Given the description of an element on the screen output the (x, y) to click on. 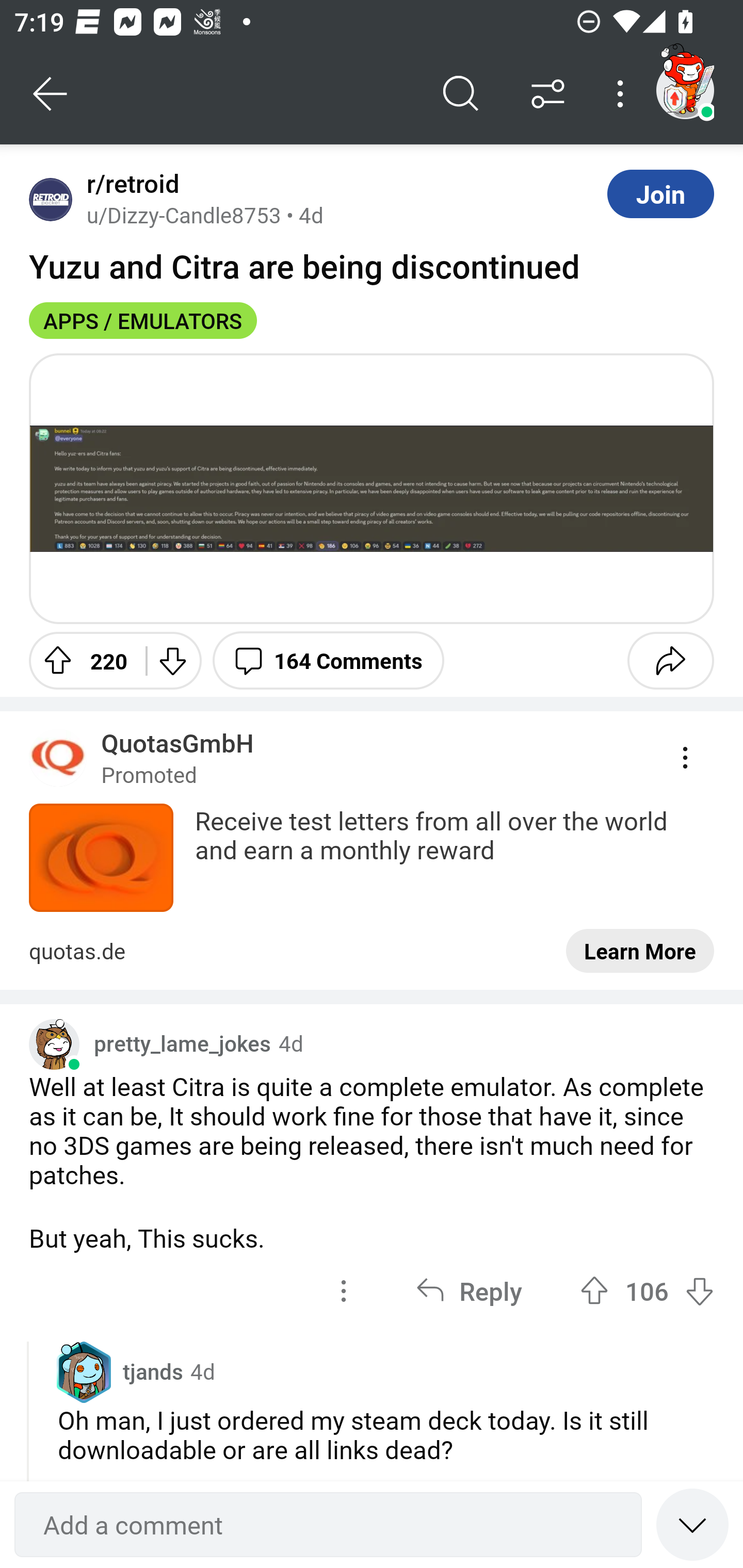
Back (50, 93)
TestAppium002 account (685, 90)
Search comments (460, 93)
Sort comments (547, 93)
More options (623, 93)
r/retroid (129, 183)
Join (660, 193)
Avatar (50, 199)
APPS / EMULATORS (142, 320)
Image (371, 488)
Upvote 220 (79, 660)
Downvote (171, 660)
164 Comments (328, 660)
Share (670, 660)
Custom avatar (53, 1044)
options (343, 1290)
Reply (469, 1290)
Upvote 106 106 votes Downvote (647, 1290)
Speed read (692, 1524)
Add a comment (327, 1524)
